Given the description of an element on the screen output the (x, y) to click on. 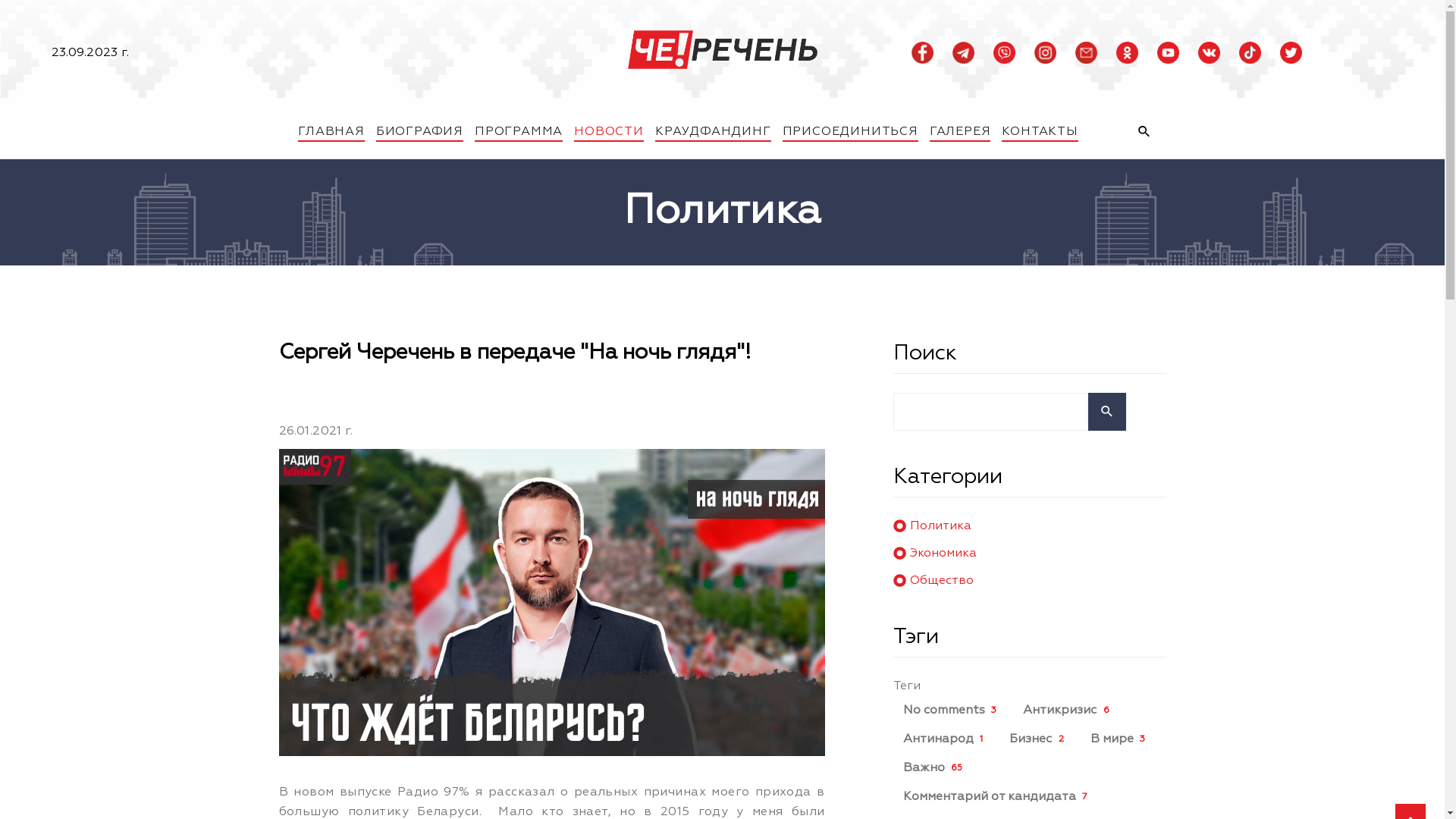
No comments 3 Element type: text (951, 710)
search Element type: text (1106, 411)
